Given the description of an element on the screen output the (x, y) to click on. 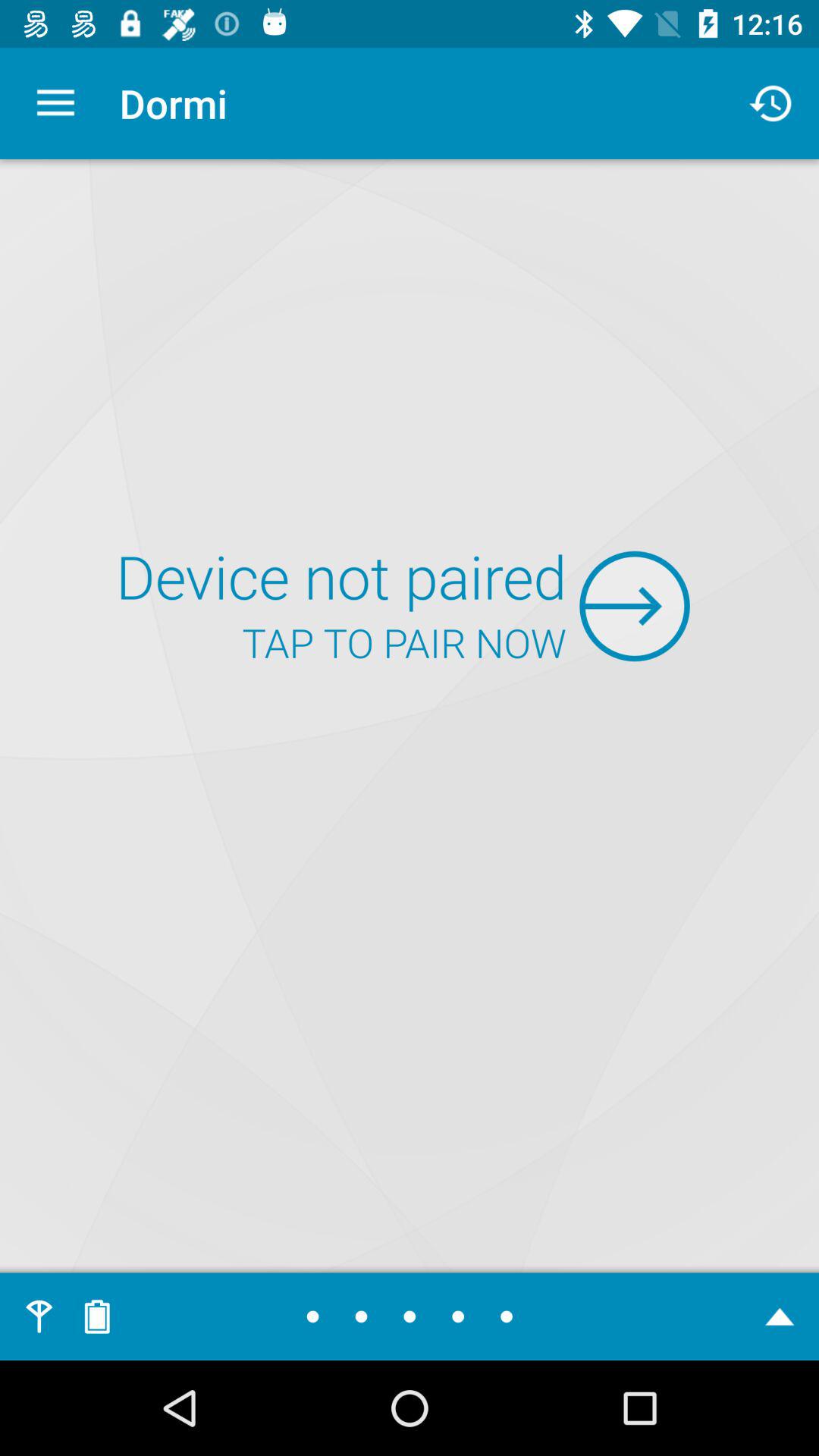
press the icon next to the dormi app (55, 103)
